Given the description of an element on the screen output the (x, y) to click on. 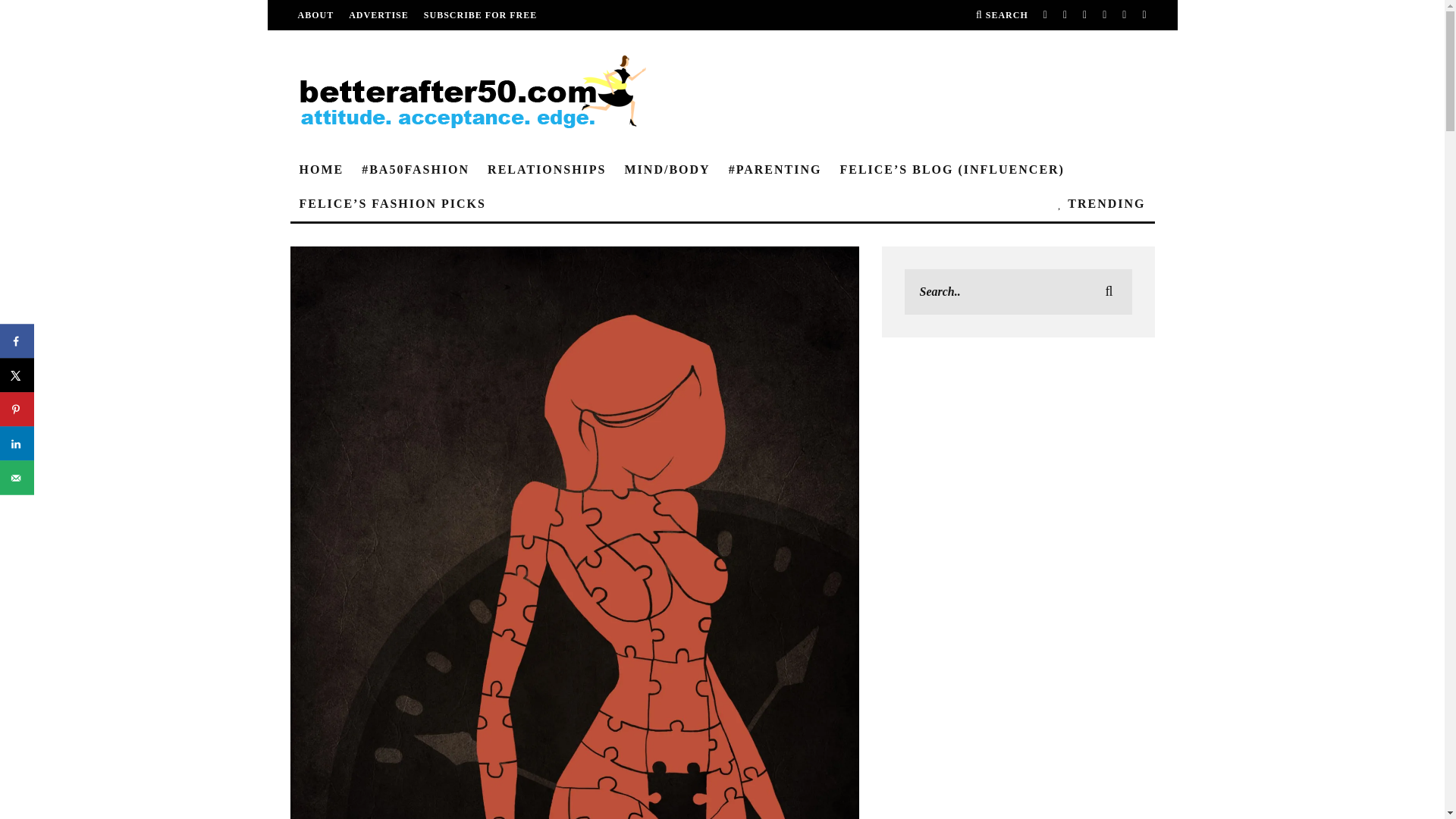
SEARCH (1001, 15)
RELATIONSHIPS (546, 170)
Search (1001, 15)
ADVERTISE (379, 15)
SUBSCRIBE FOR FREE (480, 15)
HOME (320, 170)
ABOUT (315, 15)
